Given the description of an element on the screen output the (x, y) to click on. 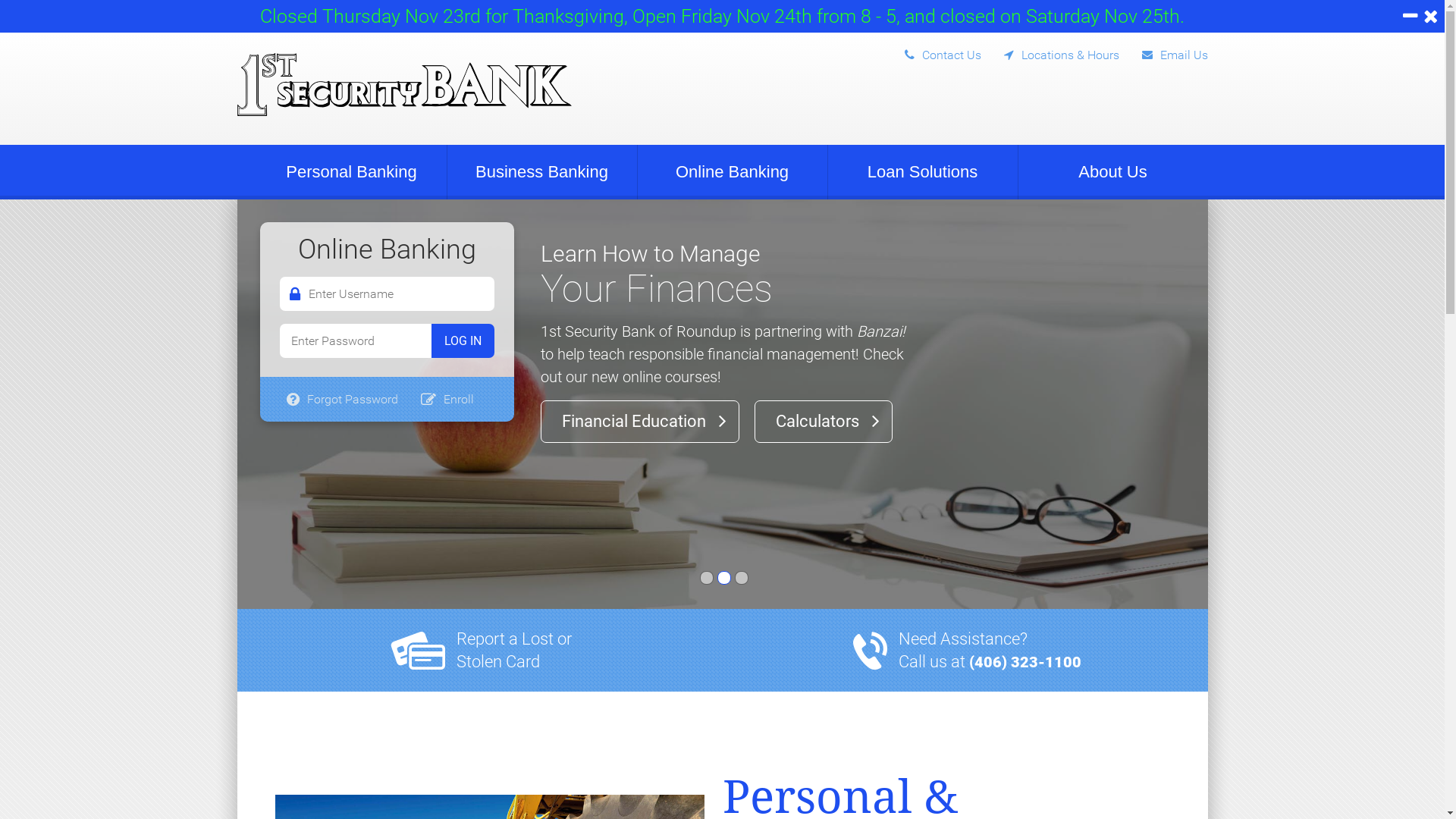
Slide-01 Element type: text (705, 577)
Online Banking Element type: text (731, 171)
Locations & Hours Element type: text (1050, 51)
(406) 323-1100 Element type: text (1025, 661)
Email Us Element type: text (1163, 51)
Personal Banking Element type: text (350, 171)
Report a Lost or
Stolen Card Element type: text (513, 649)
Loan Solutions Element type: text (922, 171)
Forgot Password Element type: text (341, 398)
Slide-03 Element type: text (740, 577)
Enroll Element type: text (447, 398)
Business Banking Element type: text (542, 171)
Contact Us Element type: text (930, 51)
Log In Element type: text (461, 340)
About Us Element type: text (1112, 171)
Slide-02 Element type: text (724, 577)
